Given the description of an element on the screen output the (x, y) to click on. 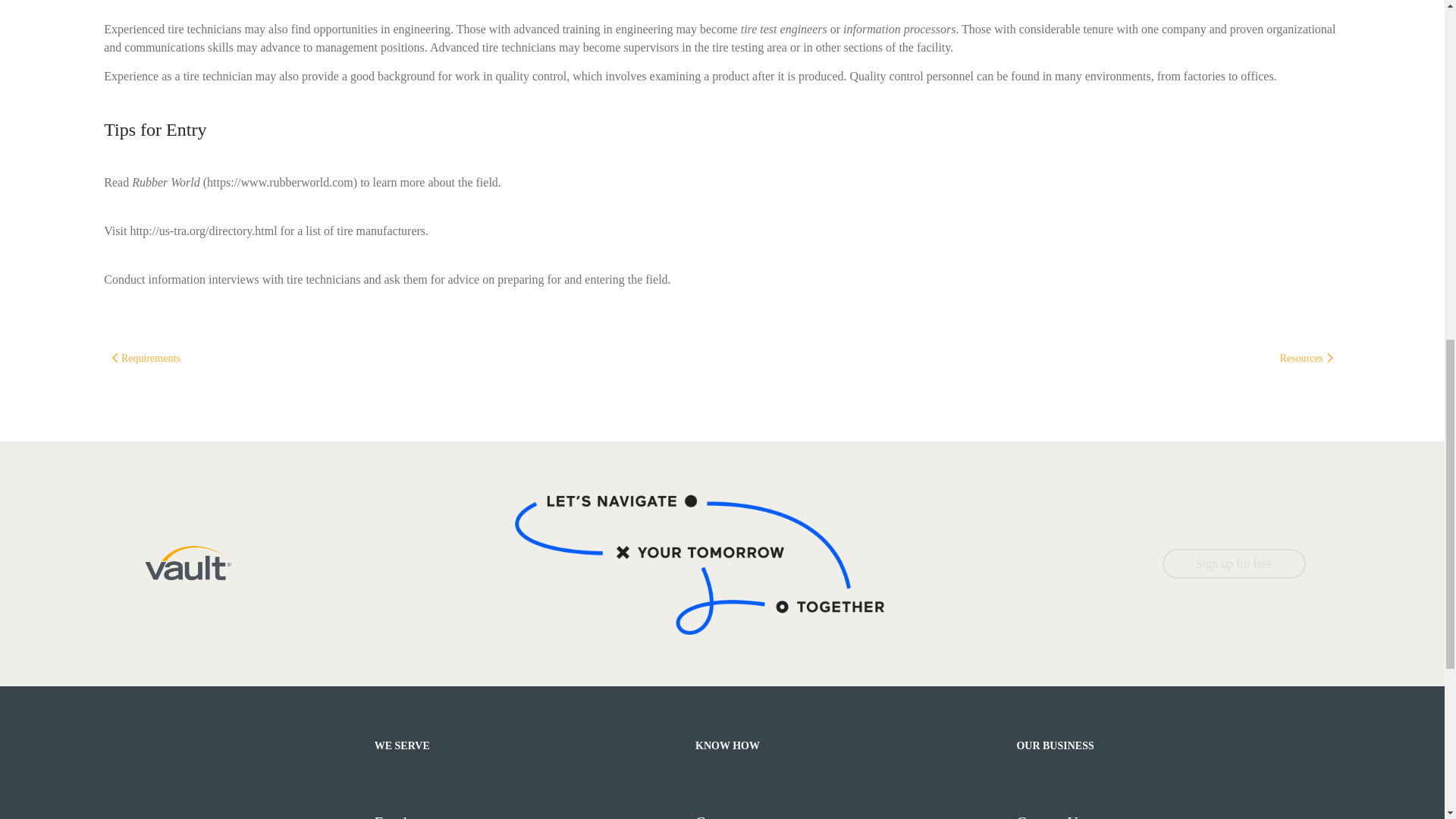
Requirements (146, 357)
Employers (528, 816)
Careers (849, 816)
Contact Us (1170, 816)
Sign up for free (1233, 563)
Resources (1305, 357)
